Given the description of an element on the screen output the (x, y) to click on. 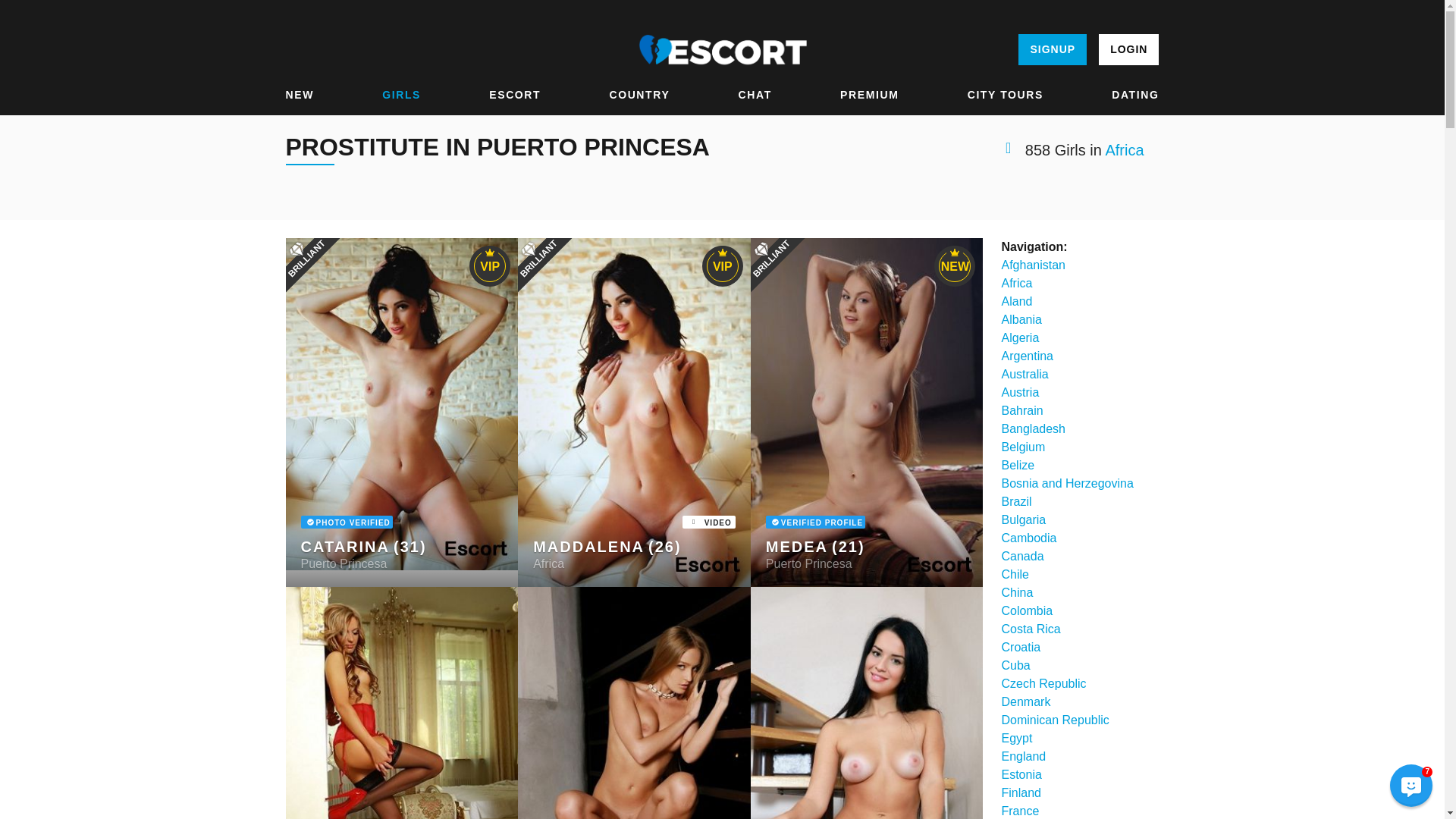
SIGNUP (1051, 49)
GIRLS (400, 94)
LOGIN (1128, 49)
CITY TOURS (1005, 94)
DATING (1135, 94)
NEW (299, 94)
Africa (1123, 149)
COUNTRY (638, 94)
PREMIUM (869, 94)
CHAT (754, 94)
